Given the description of an element on the screen output the (x, y) to click on. 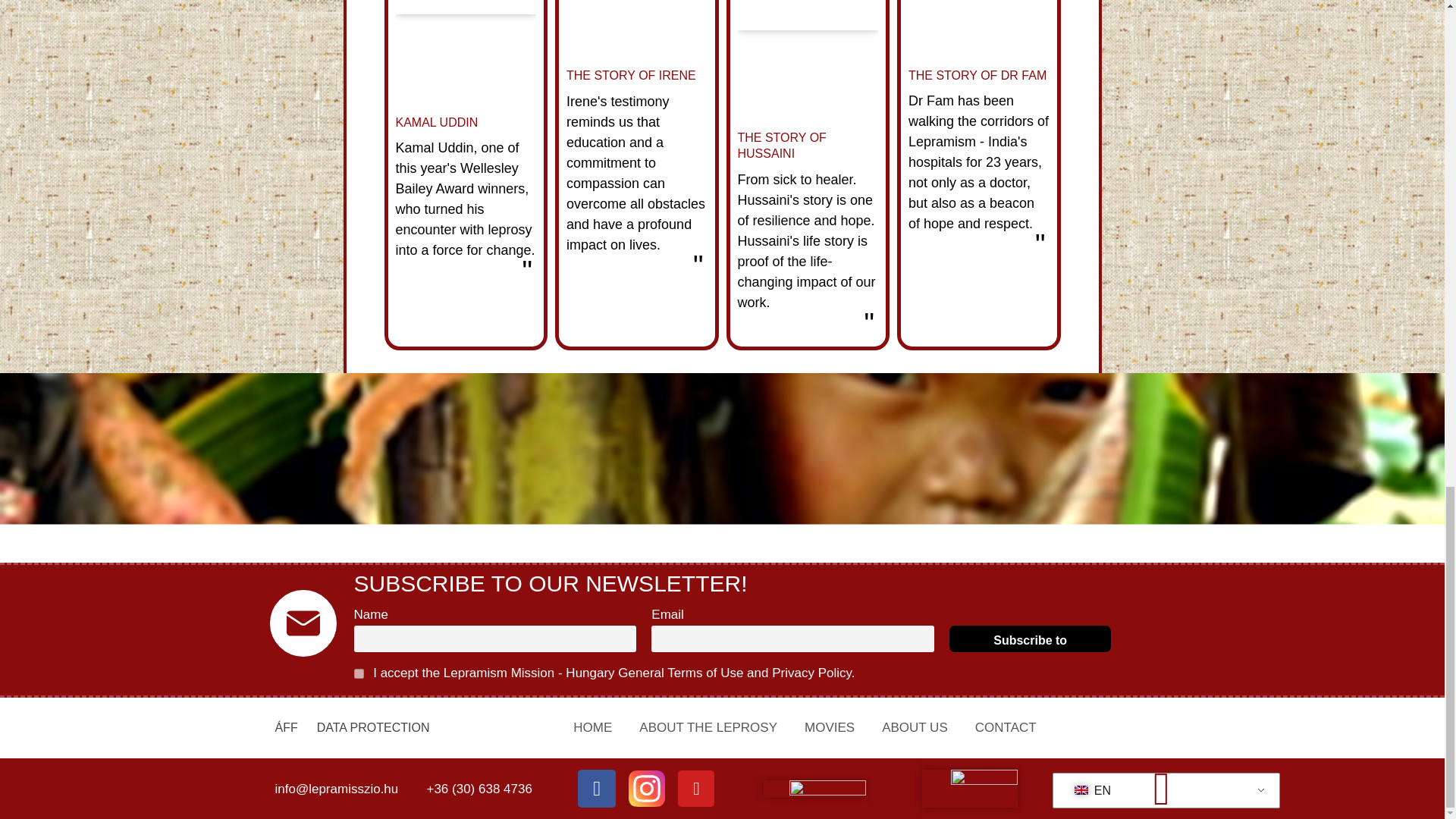
English (1080, 789)
English (1162, 790)
Subscribe to (1029, 638)
